Given the description of an element on the screen output the (x, y) to click on. 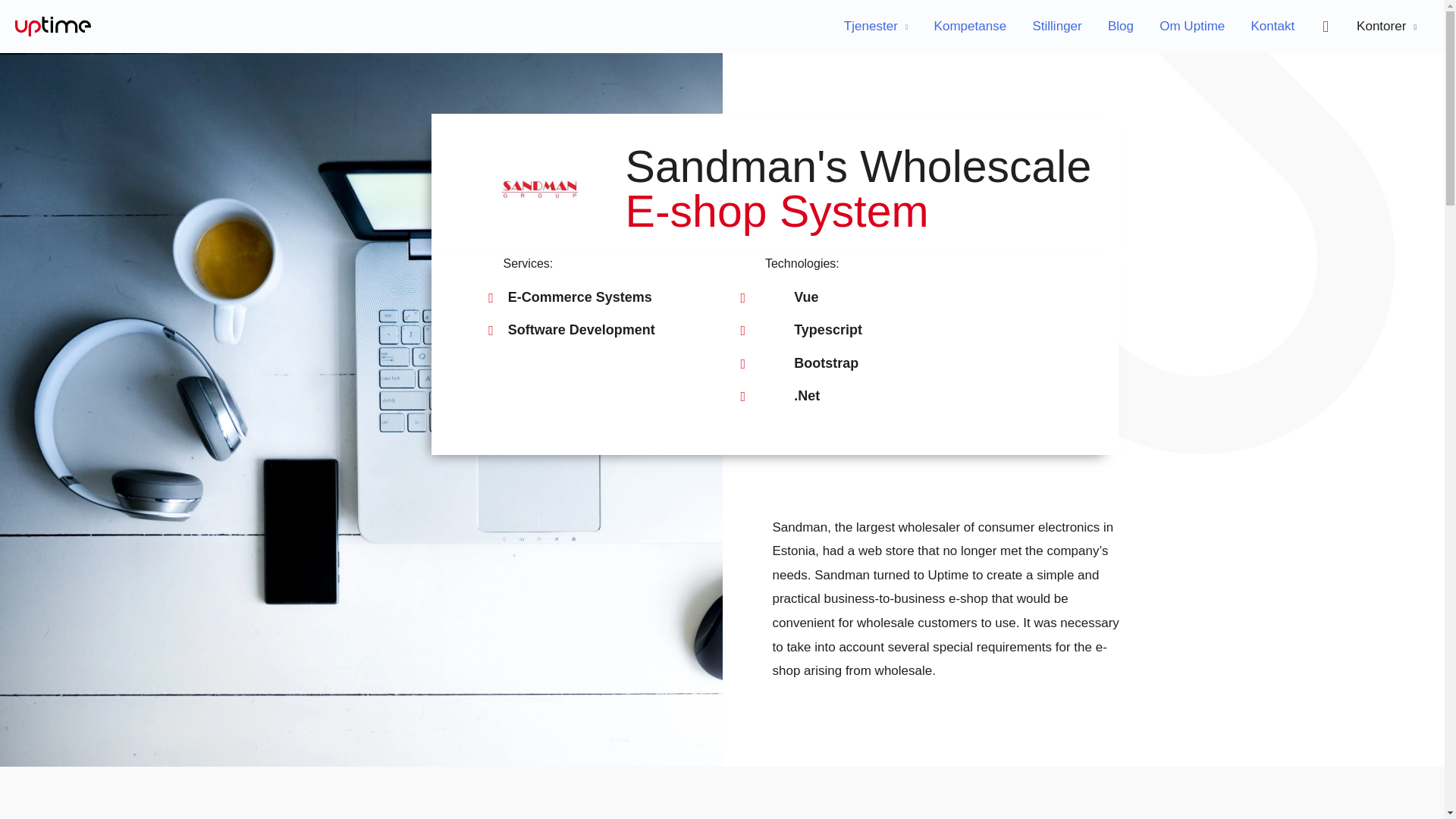
Stillinger (1056, 26)
Kompetanse (969, 26)
Om Uptime (1192, 26)
Kontakt (1272, 26)
Kontorer (1386, 26)
Blog (1120, 26)
Tjenester (876, 26)
